Given the description of an element on the screen output the (x, y) to click on. 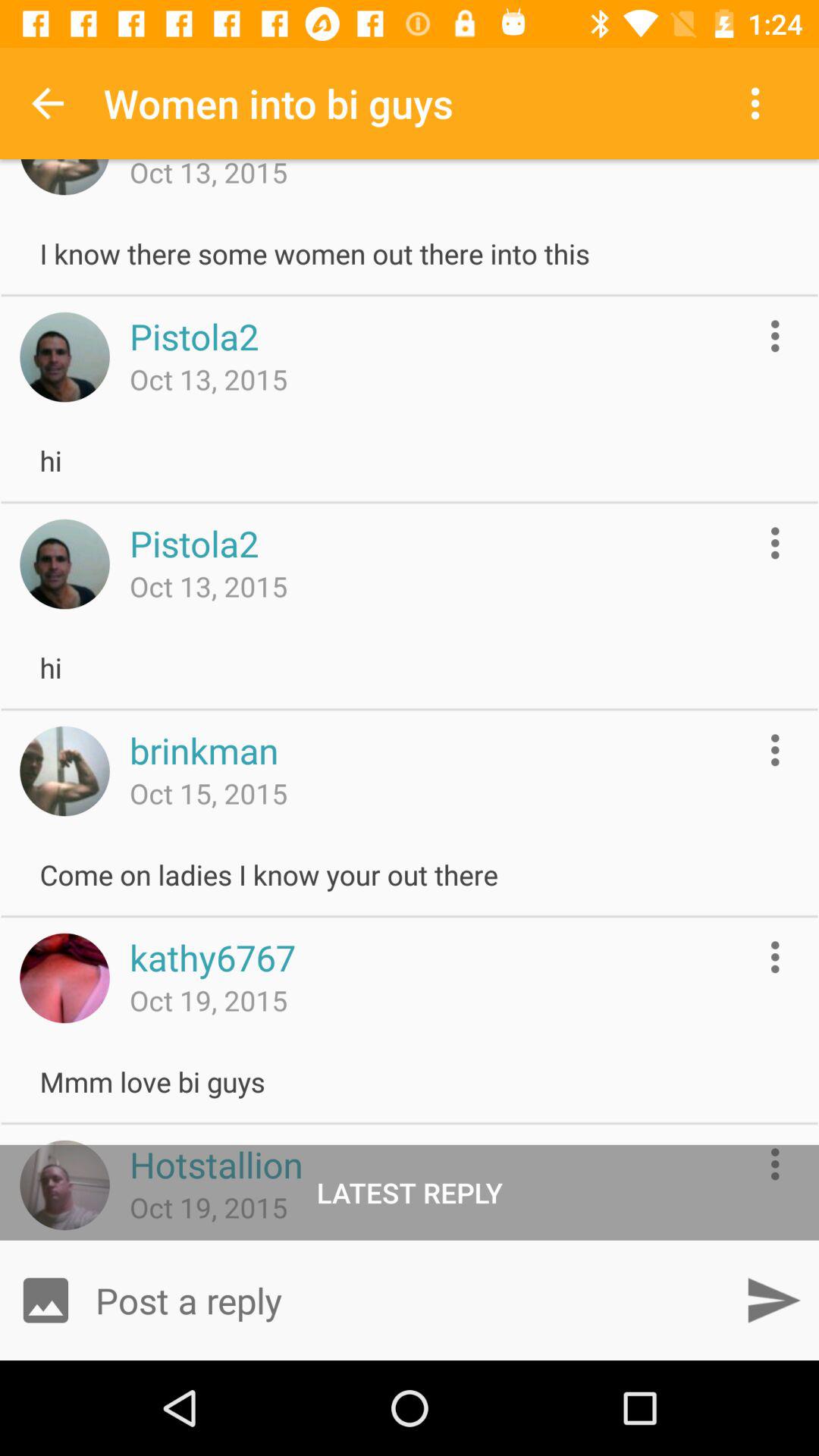
choose latest reply icon (409, 1192)
